Given the description of an element on the screen output the (x, y) to click on. 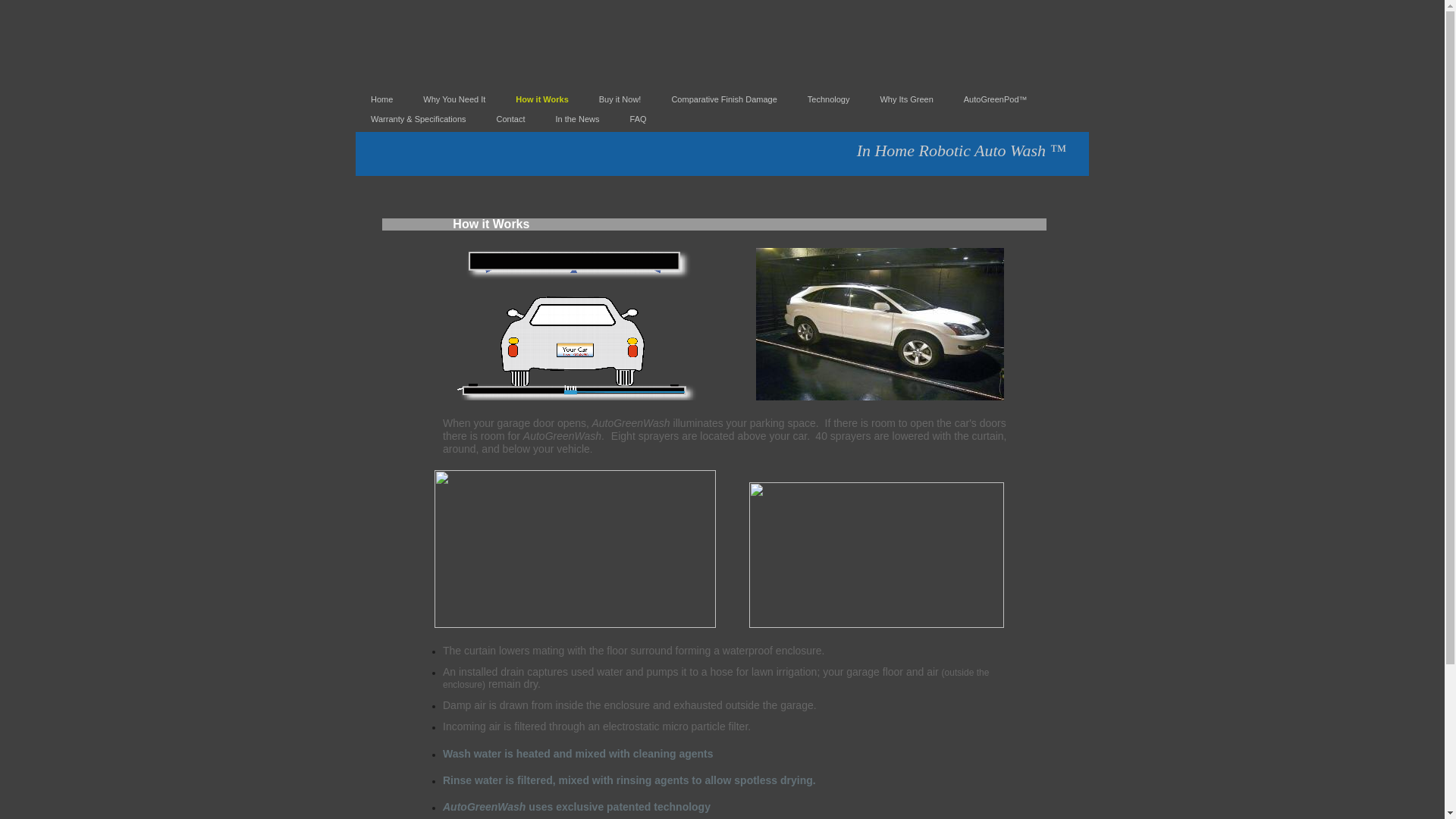
Why You Need It (453, 99)
Comparative Finish Damage (724, 99)
Contact (510, 119)
Home (381, 99)
How it Works (541, 99)
In the News (577, 119)
Why Its Green (905, 99)
Technology (828, 99)
Buy it Now! (619, 99)
FAQ (638, 119)
